Given the description of an element on the screen output the (x, y) to click on. 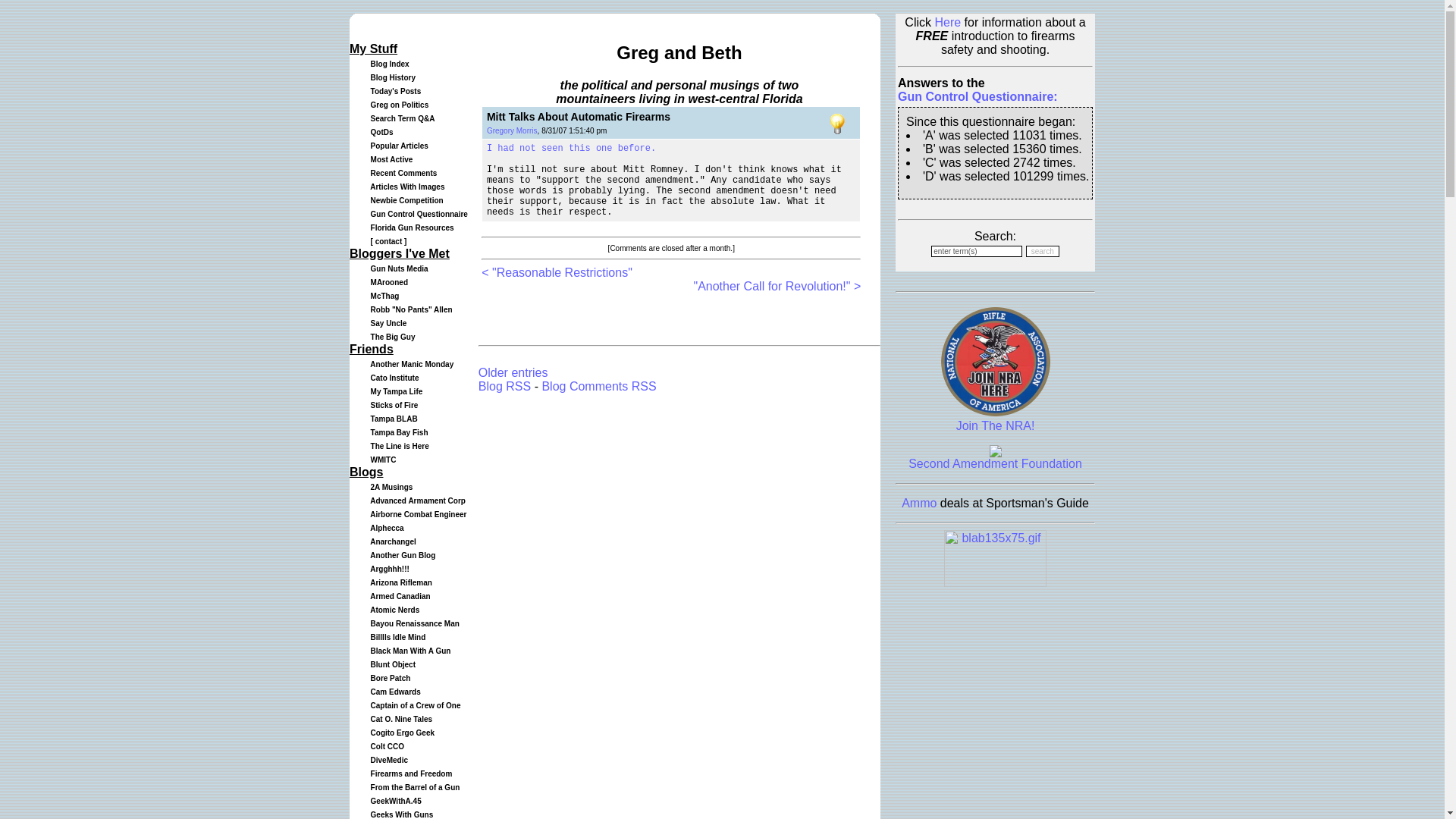
  Recent Comments (401, 171)
  Blog History (390, 75)
  Articles With Images (405, 185)
Advertisement (658, 316)
  QotDs (379, 130)
  Most Active (389, 157)
  Blog Index (387, 62)
  Gun Control Questionnaire (416, 212)
  MArooned (386, 280)
search (1042, 251)
  Robb "No Pants" Allen (409, 308)
  Say Uncle (386, 321)
  Popular Articles (397, 144)
  Today's Posts (393, 89)
  Greg on Politics (397, 103)
